Given the description of an element on the screen output the (x, y) to click on. 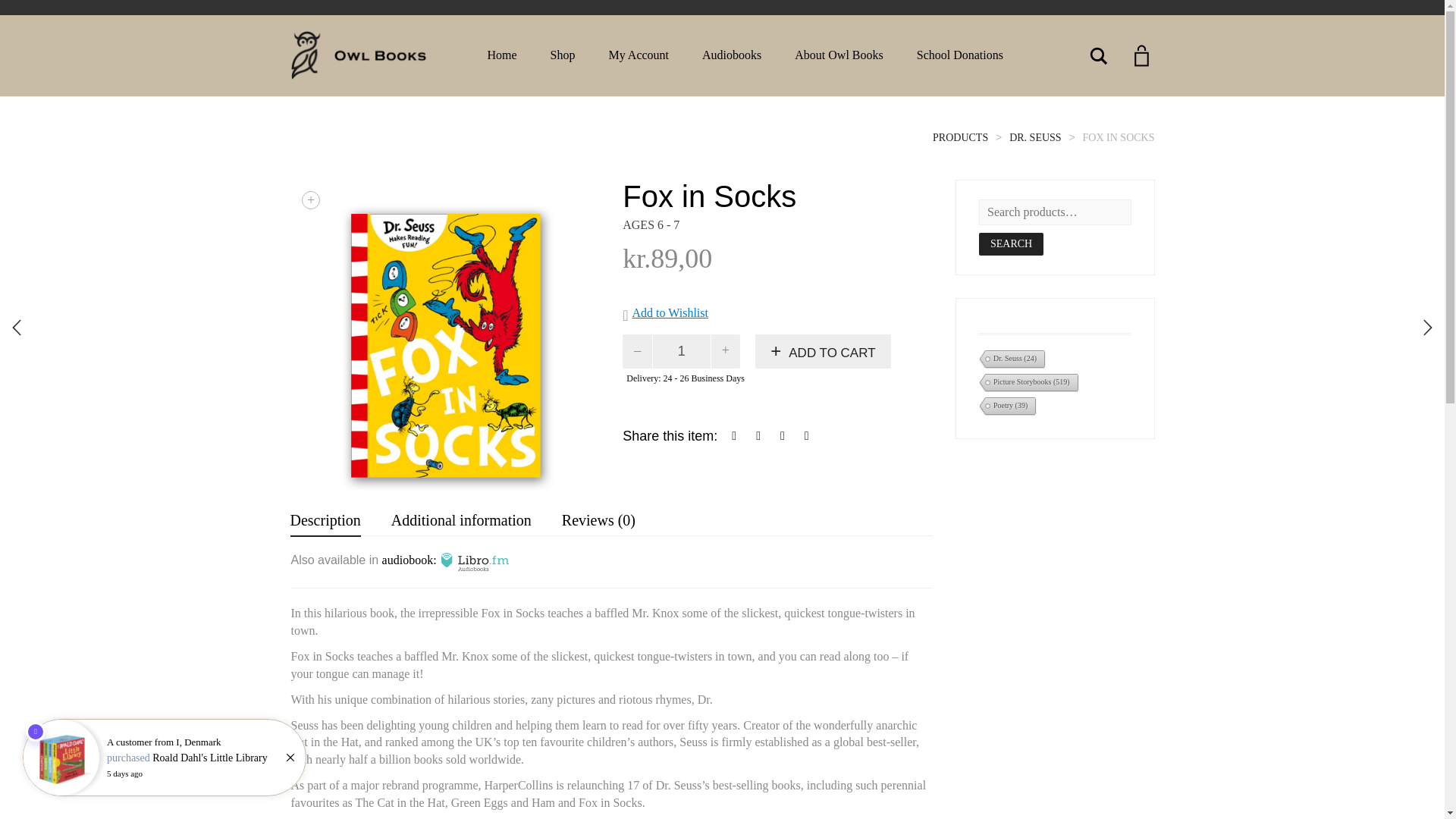
Home (501, 55)
Shop (563, 55)
Go to the Dr. Seuss Series archives. (1035, 137)
Go to Products. (960, 137)
1 (681, 351)
View full size (310, 199)
